Given the description of an element on the screen output the (x, y) to click on. 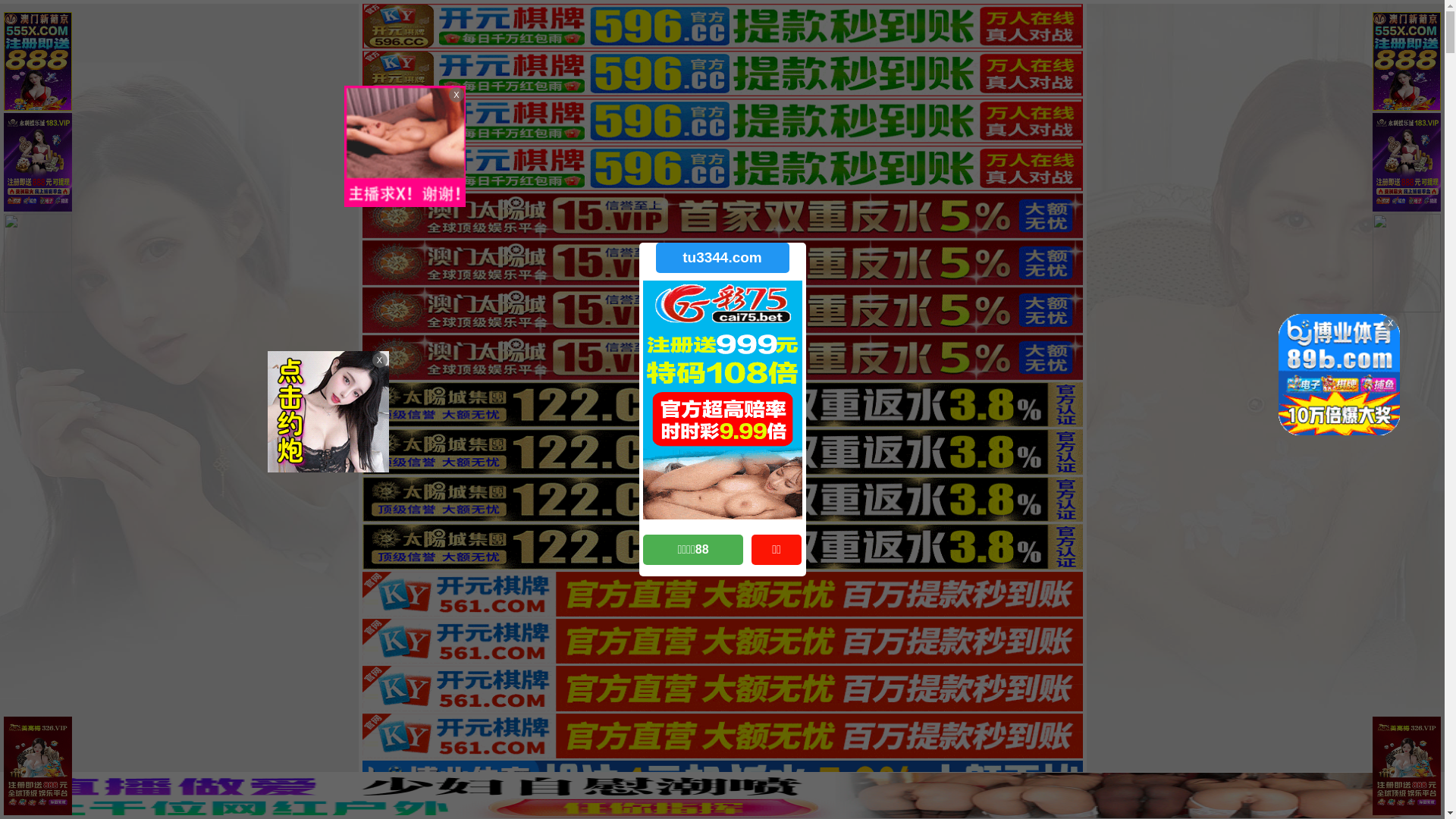
tu3344.com Element type: text (721, 257)
X Element type: text (1430, 789)
